Given the description of an element on the screen output the (x, y) to click on. 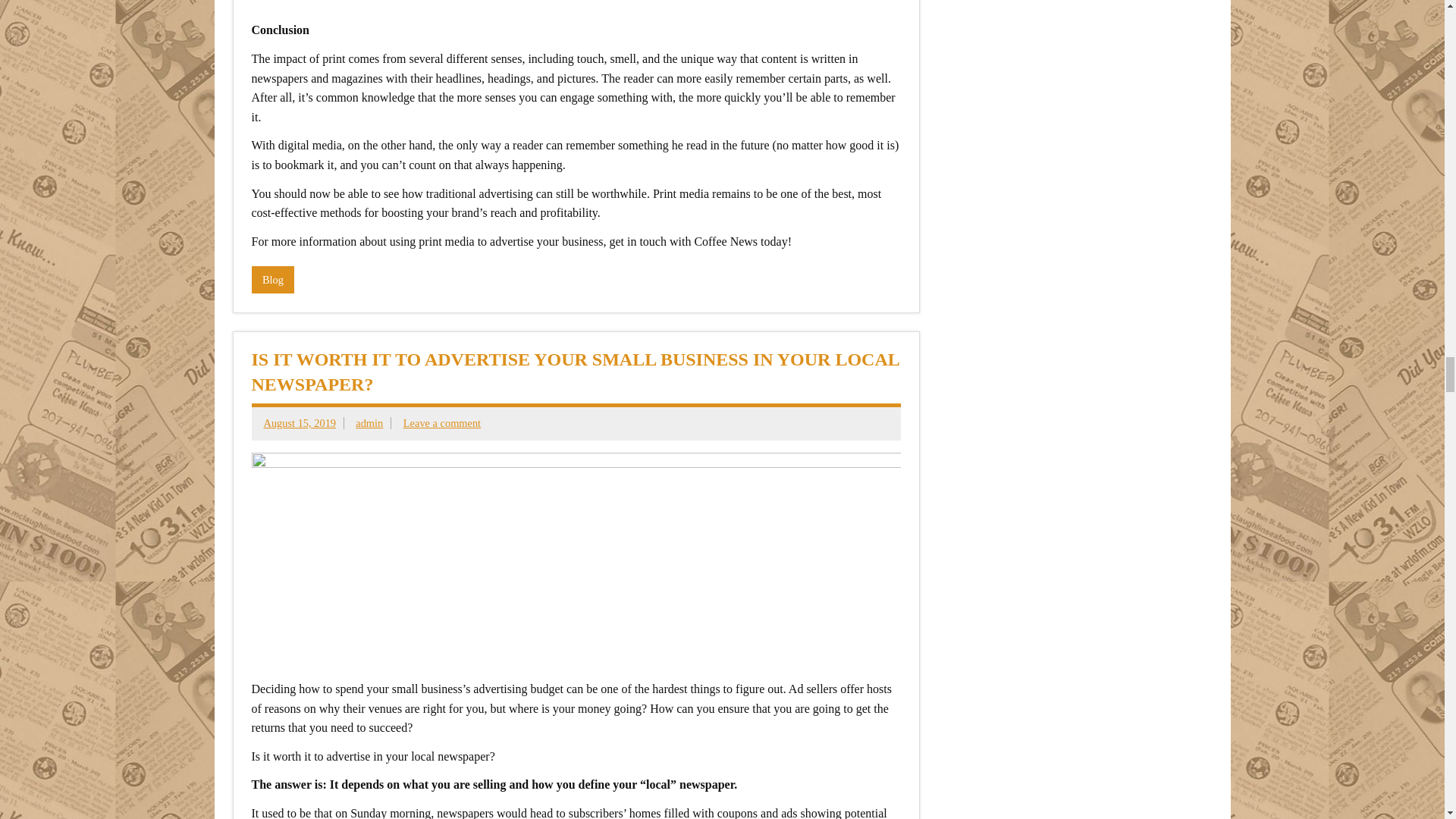
View all posts by admin (368, 422)
4:33 pm (299, 422)
